Given the description of an element on the screen output the (x, y) to click on. 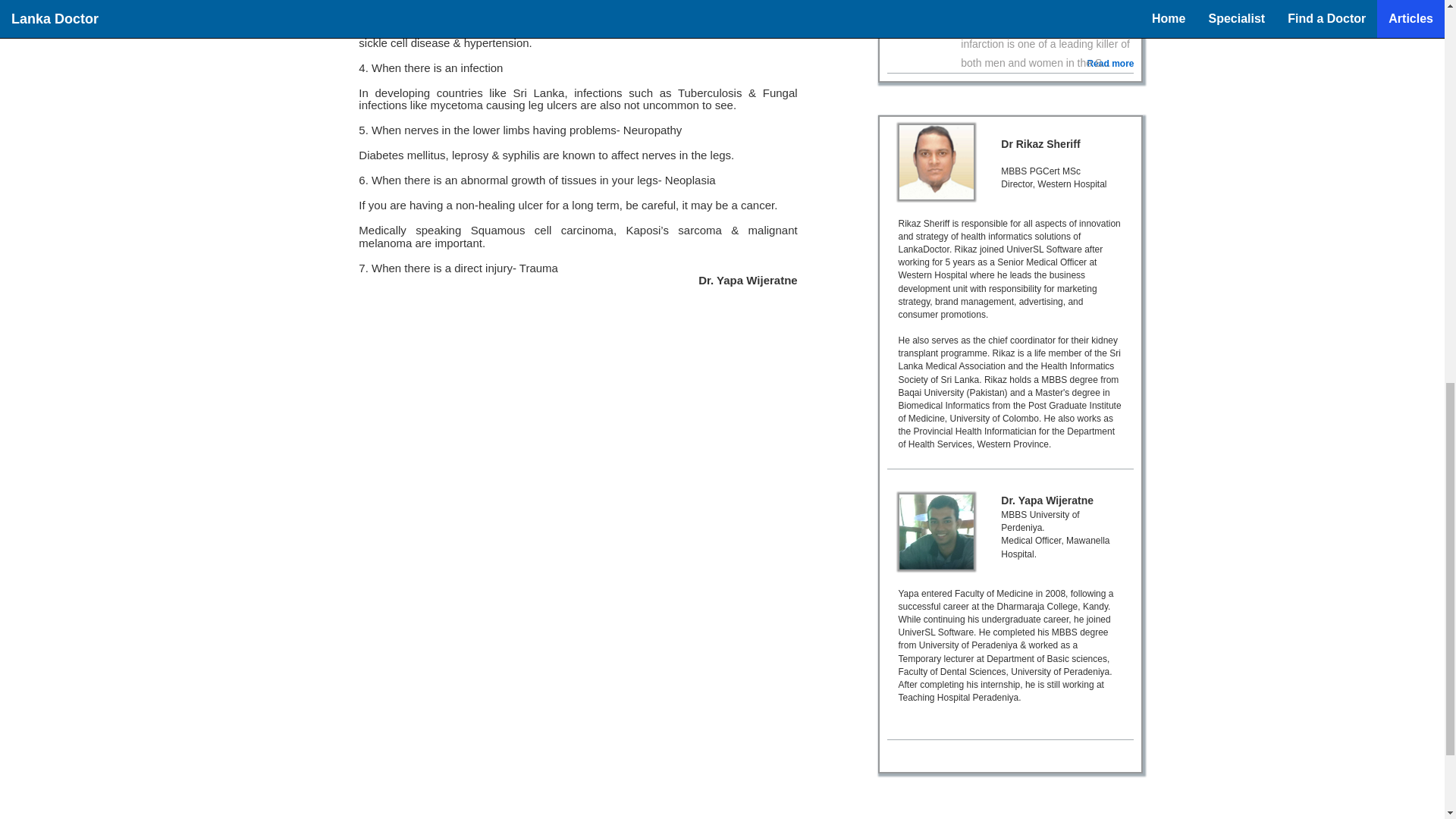
Read more (1110, 63)
When can I walk after a heart attack? (1035, 4)
